Given the description of an element on the screen output the (x, y) to click on. 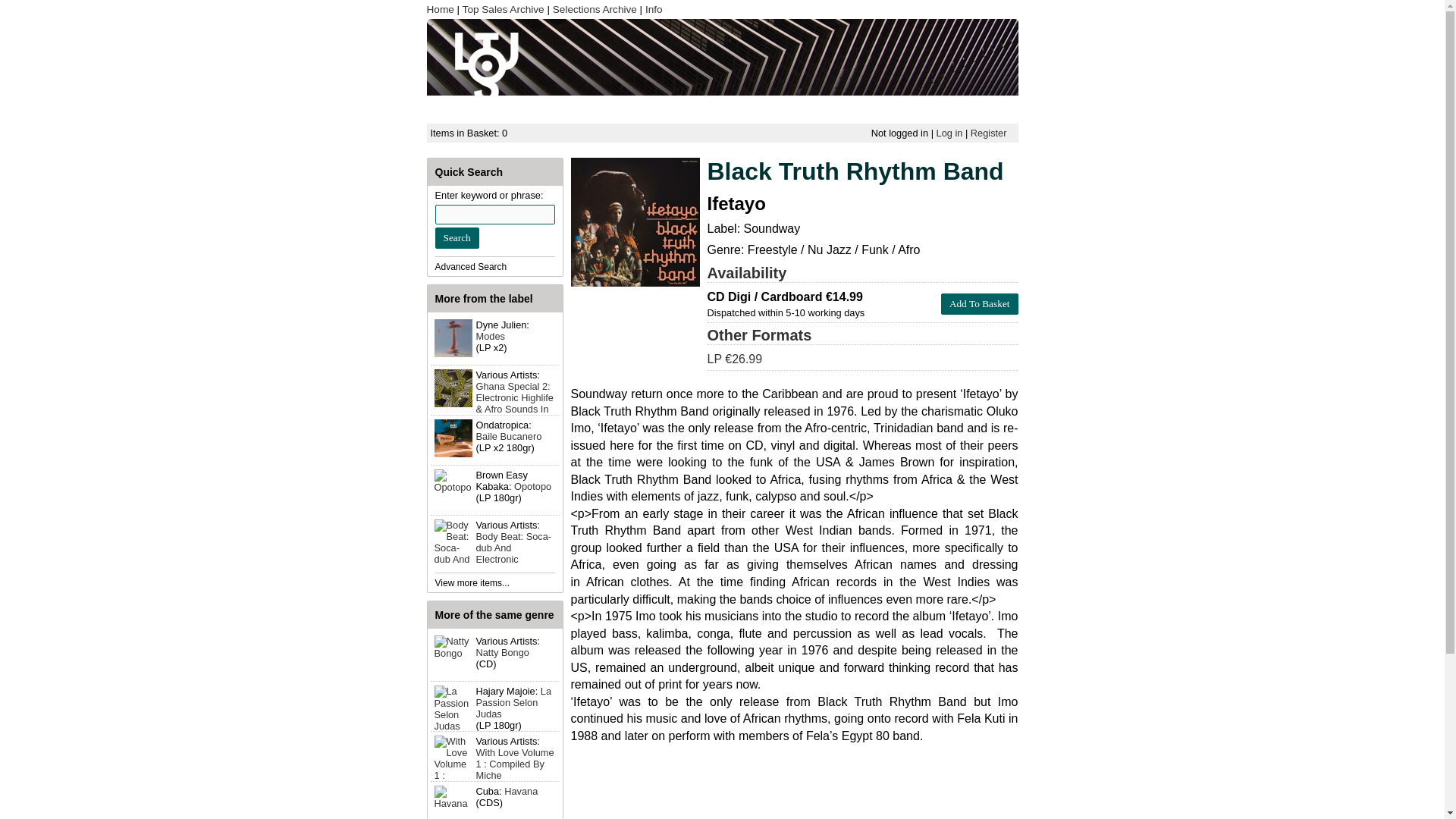
La Passion Selon Judas (513, 702)
Selections Archive (595, 9)
Top Sales Archive (503, 9)
Natty Bongo (502, 652)
Search (457, 237)
View more items... (472, 583)
Log in (949, 132)
Modes (490, 336)
Info (653, 9)
Add To Basket (978, 303)
